Given the description of an element on the screen output the (x, y) to click on. 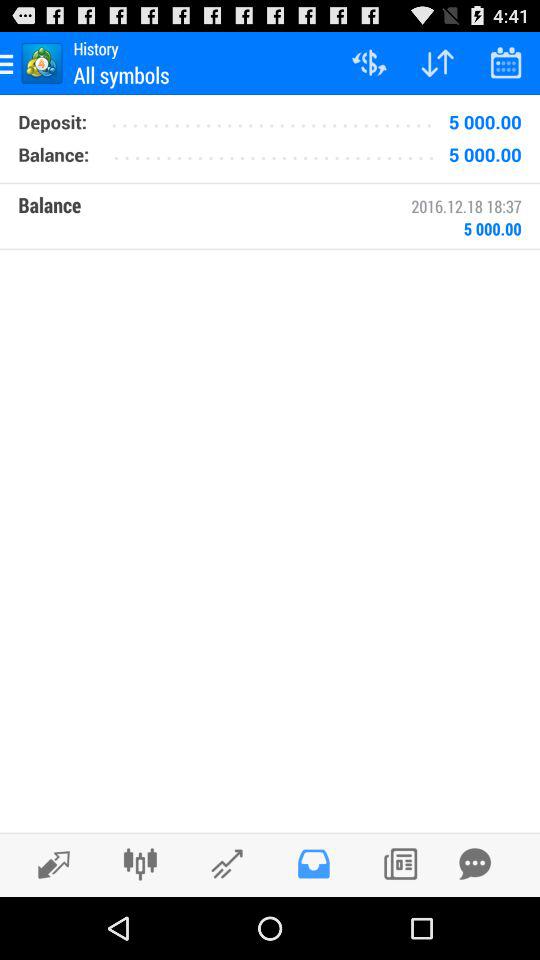
write message icon (475, 864)
